Given the description of an element on the screen output the (x, y) to click on. 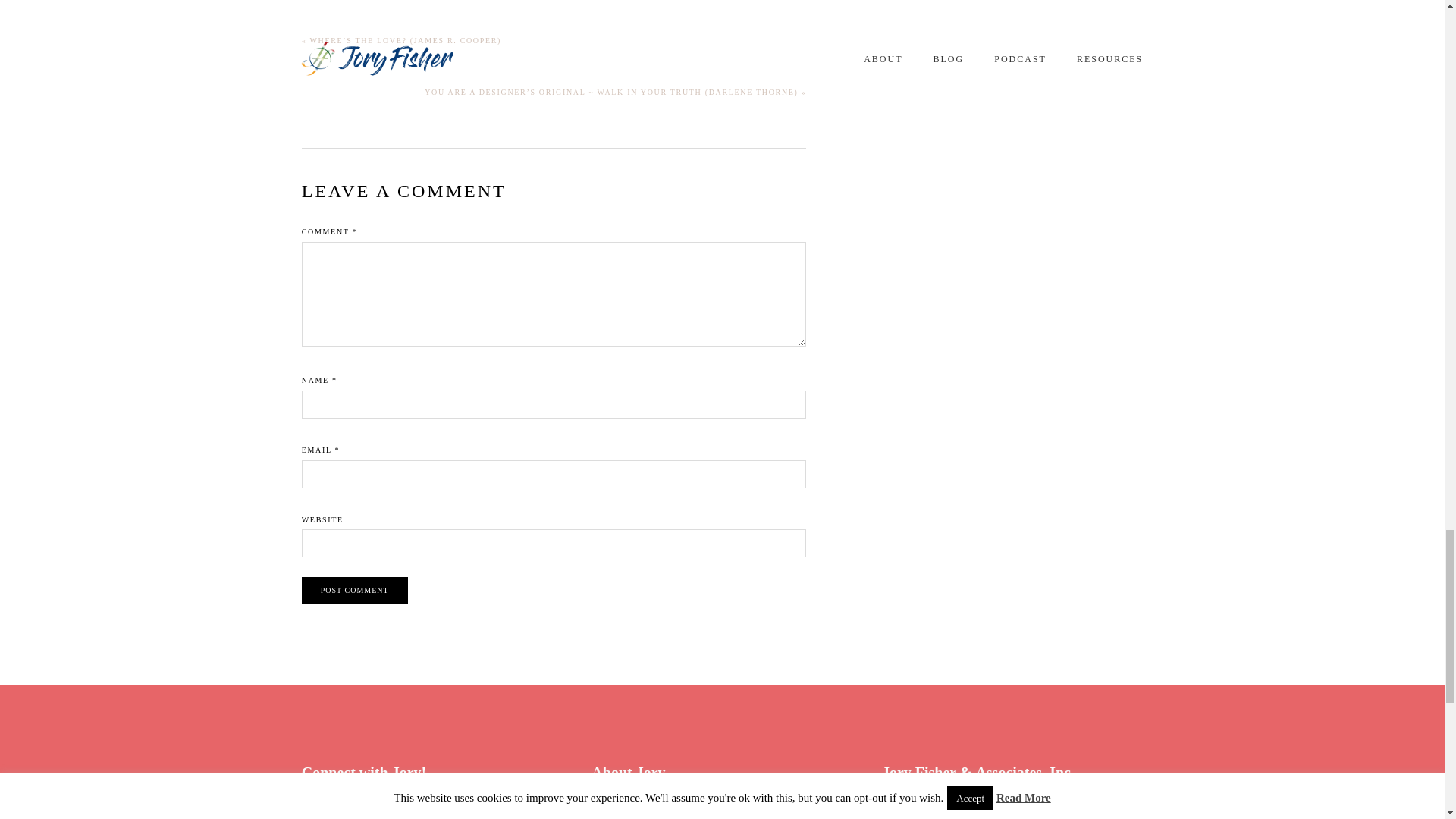
Post Comment (354, 590)
